Given the description of an element on the screen output the (x, y) to click on. 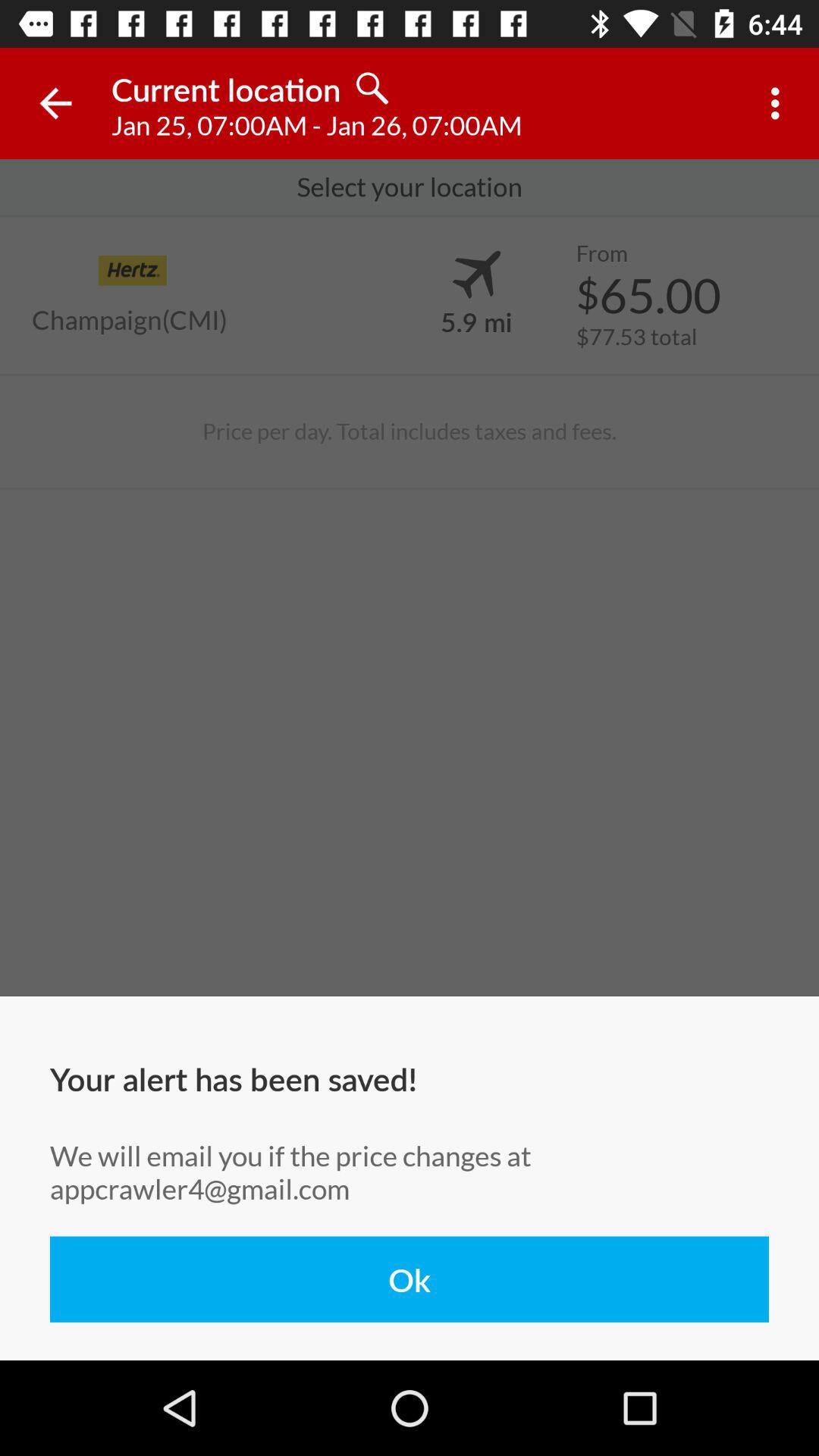
choose item below we will email icon (409, 1279)
